Given the description of an element on the screen output the (x, y) to click on. 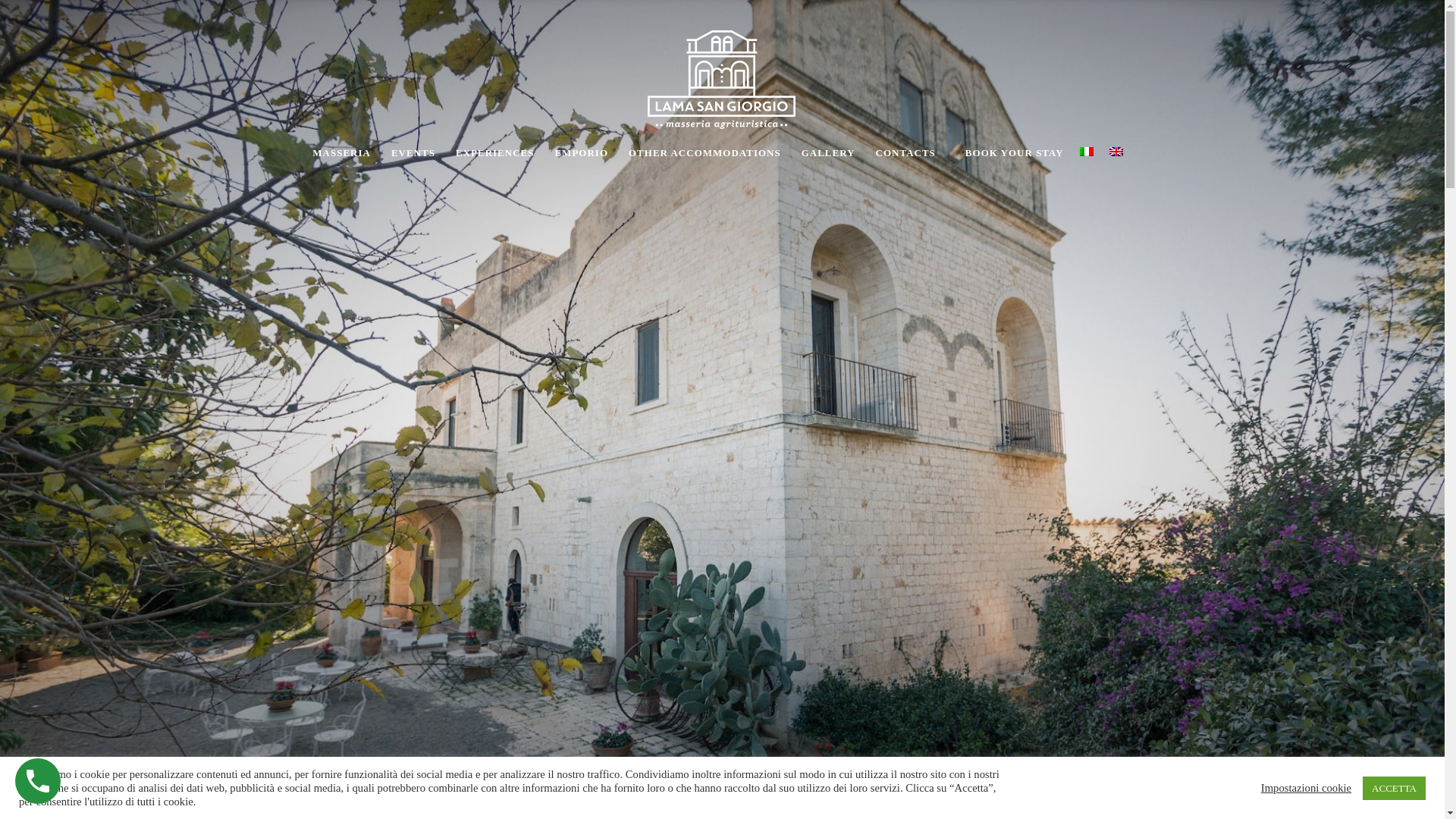
EXPERIENCES (492, 153)
EN (1115, 151)
BOOK YOUR STAY (1007, 153)
OTHER ACCOMMODATIONS (702, 153)
IT (1086, 151)
